Given the description of an element on the screen output the (x, y) to click on. 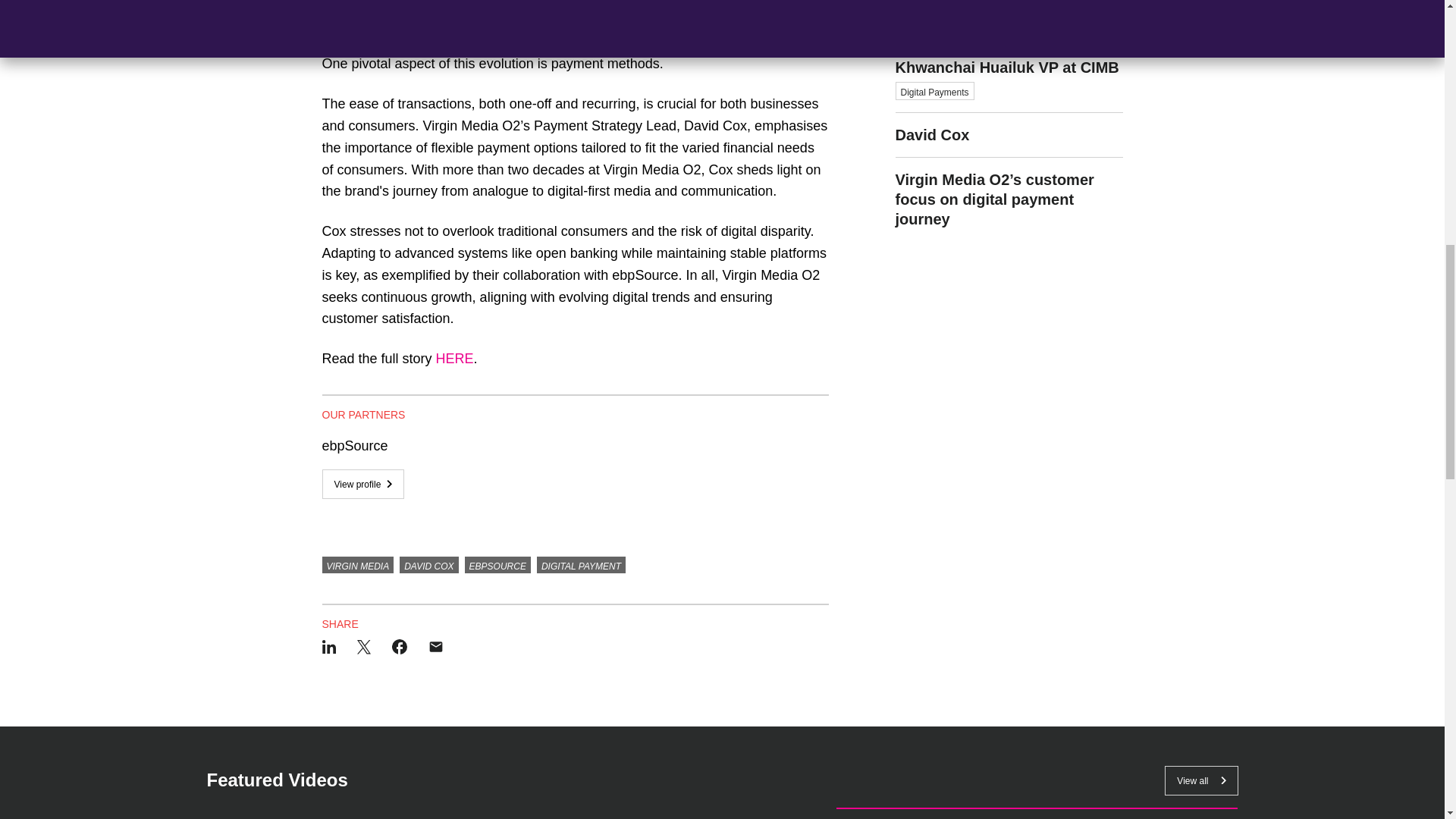
VIRGIN MEDIA (357, 564)
DIGITAL PAYMENT (581, 564)
EBPSOURCE (497, 564)
View profile (362, 483)
David Cox (1008, 135)
DAVID COX (428, 564)
HERE (454, 358)
View all (1200, 780)
